Given the description of an element on the screen output the (x, y) to click on. 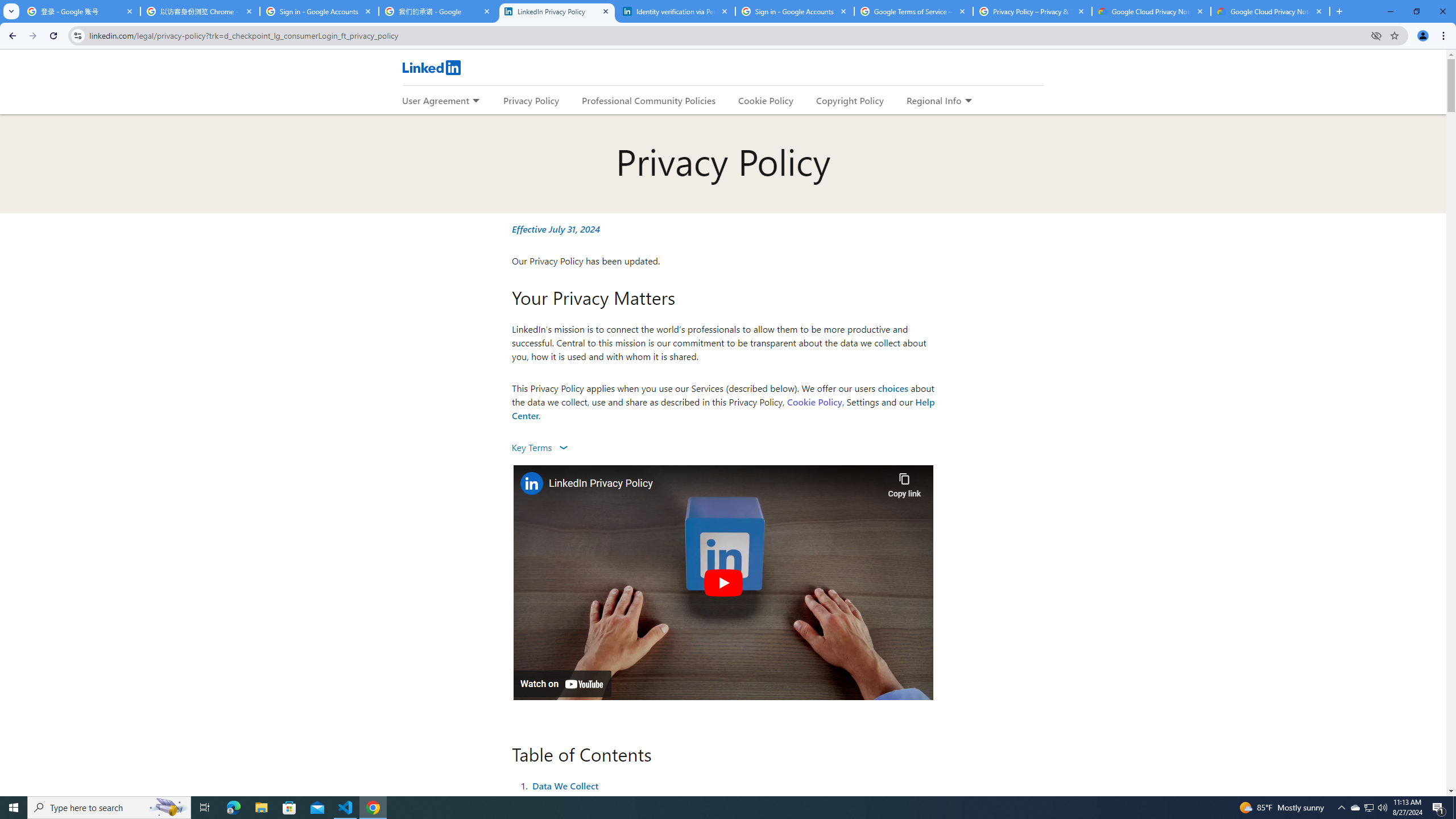
Expand to show more links for User Agreement (475, 101)
Key Terms  (539, 447)
Photo image of LinkedIn (531, 482)
Sign in - Google Accounts (794, 11)
Cookie Policy (814, 401)
Identity verification via Persona | LinkedIn Help (676, 11)
Professional Community Policies (649, 100)
